Given the description of an element on the screen output the (x, y) to click on. 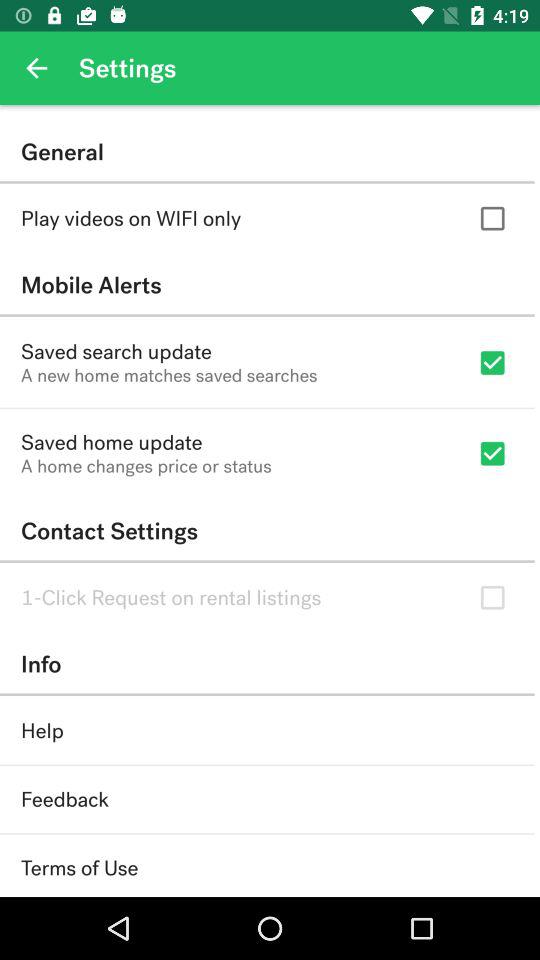
turn off item below the feedback item (79, 867)
